Given the description of an element on the screen output the (x, y) to click on. 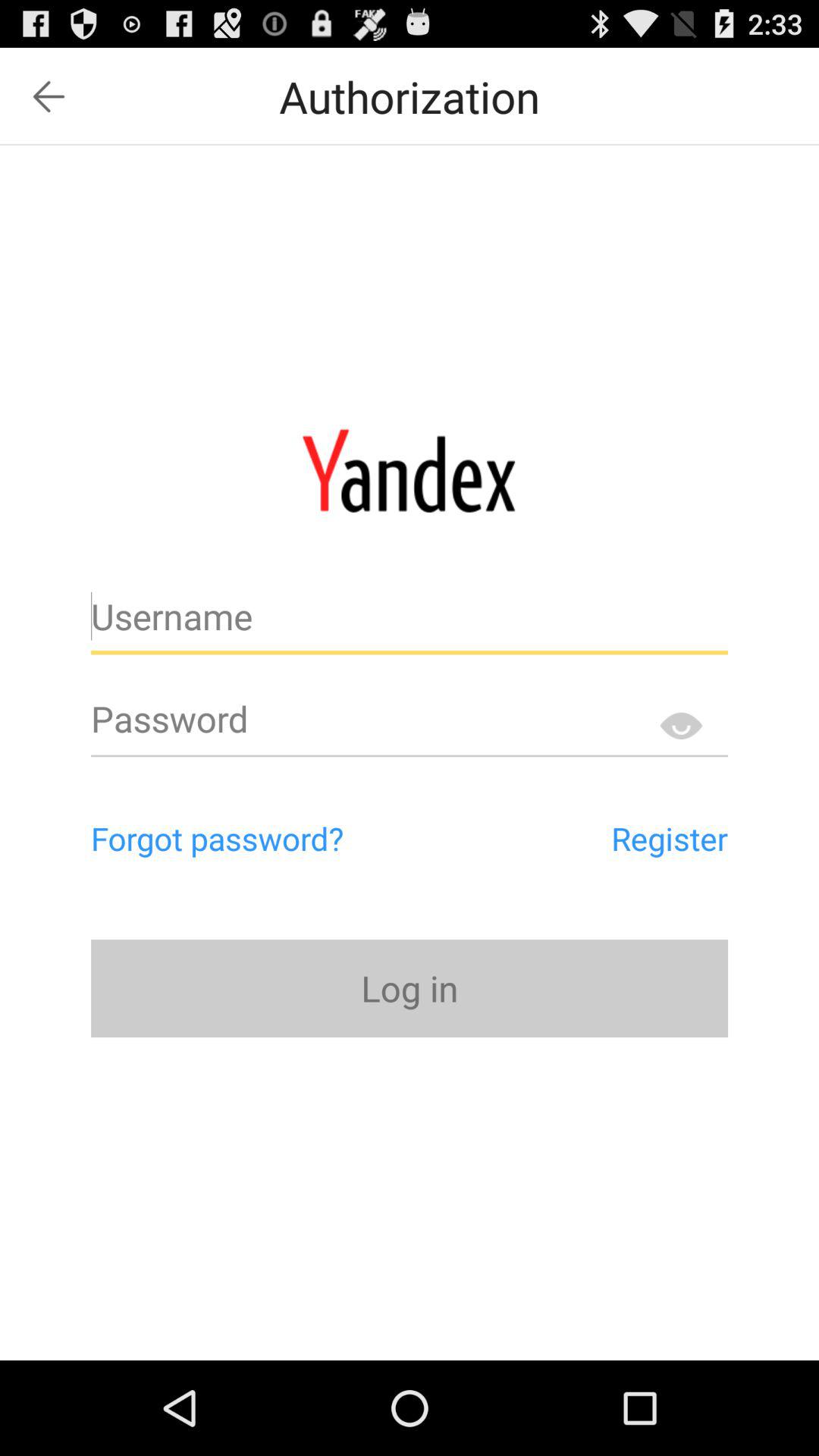
press the log in button (409, 988)
